Given the description of an element on the screen output the (x, y) to click on. 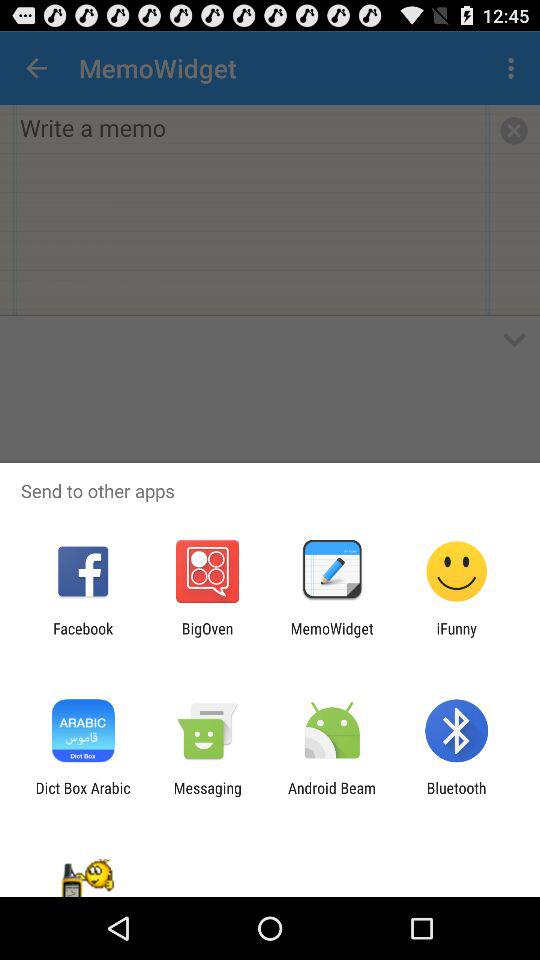
click the item next to the android beam icon (207, 796)
